Given the description of an element on the screen output the (x, y) to click on. 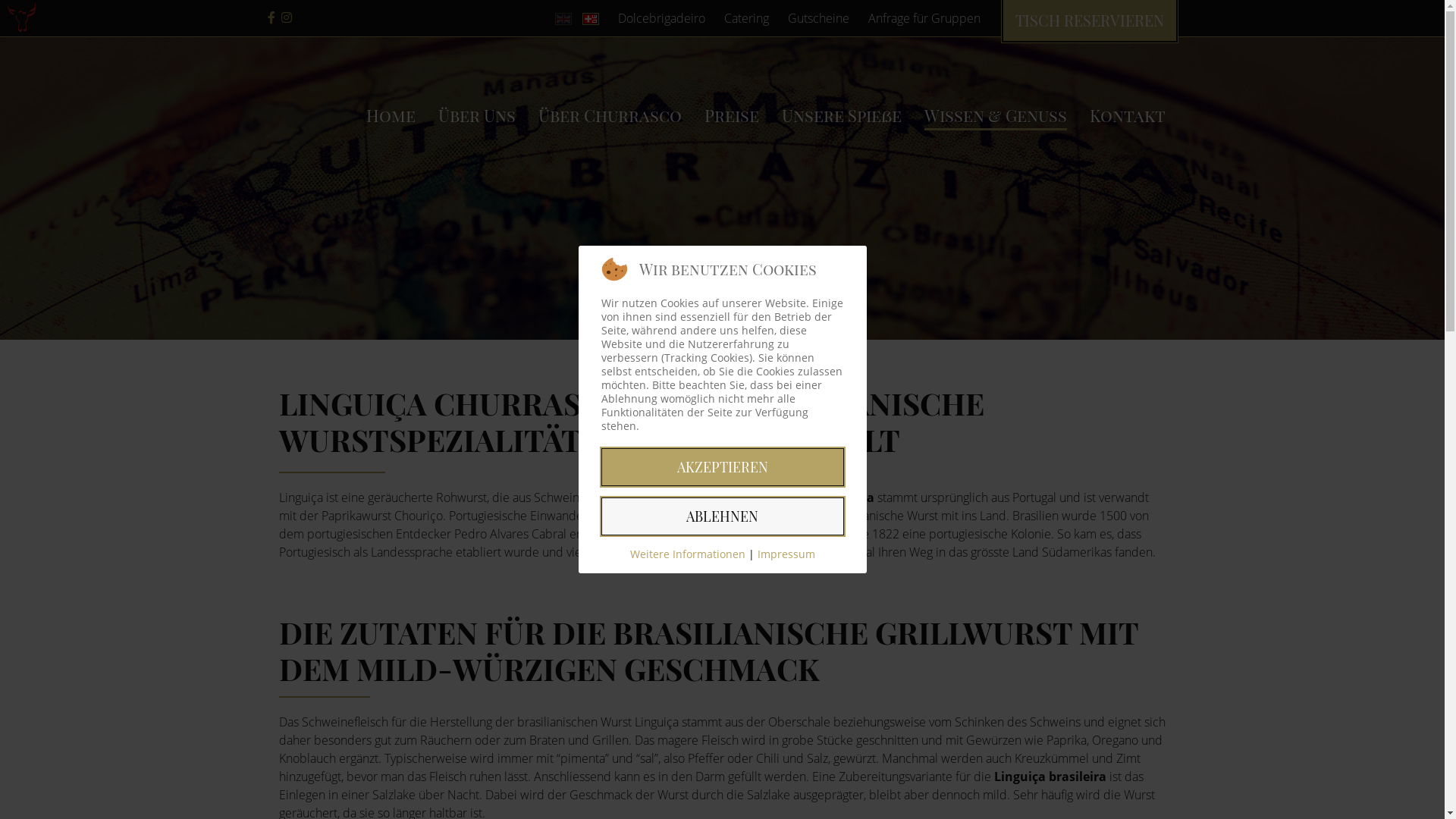
  Element type: text (288, 18)
Catering Element type: text (745, 17)
Wissen & Genuss Element type: text (994, 115)
Home Element type: text (389, 115)
Kontakt Element type: text (1126, 115)
Weitere Informationen Element type: text (686, 553)
Deutsch (Schweiz) Element type: hover (590, 18)
AKZEPTIEREN Element type: text (721, 467)
TISCH RESERVIEREN Element type: text (1088, 20)
Gutscheine Element type: text (817, 17)
English (United Kingdom) Element type: hover (563, 18)
Dolcebrigadeiro Element type: text (660, 17)
ABLEHNEN Element type: text (721, 516)
  Element type: text (273, 18)
Preise Element type: text (730, 115)
Impressum Element type: text (785, 553)
